Given the description of an element on the screen output the (x, y) to click on. 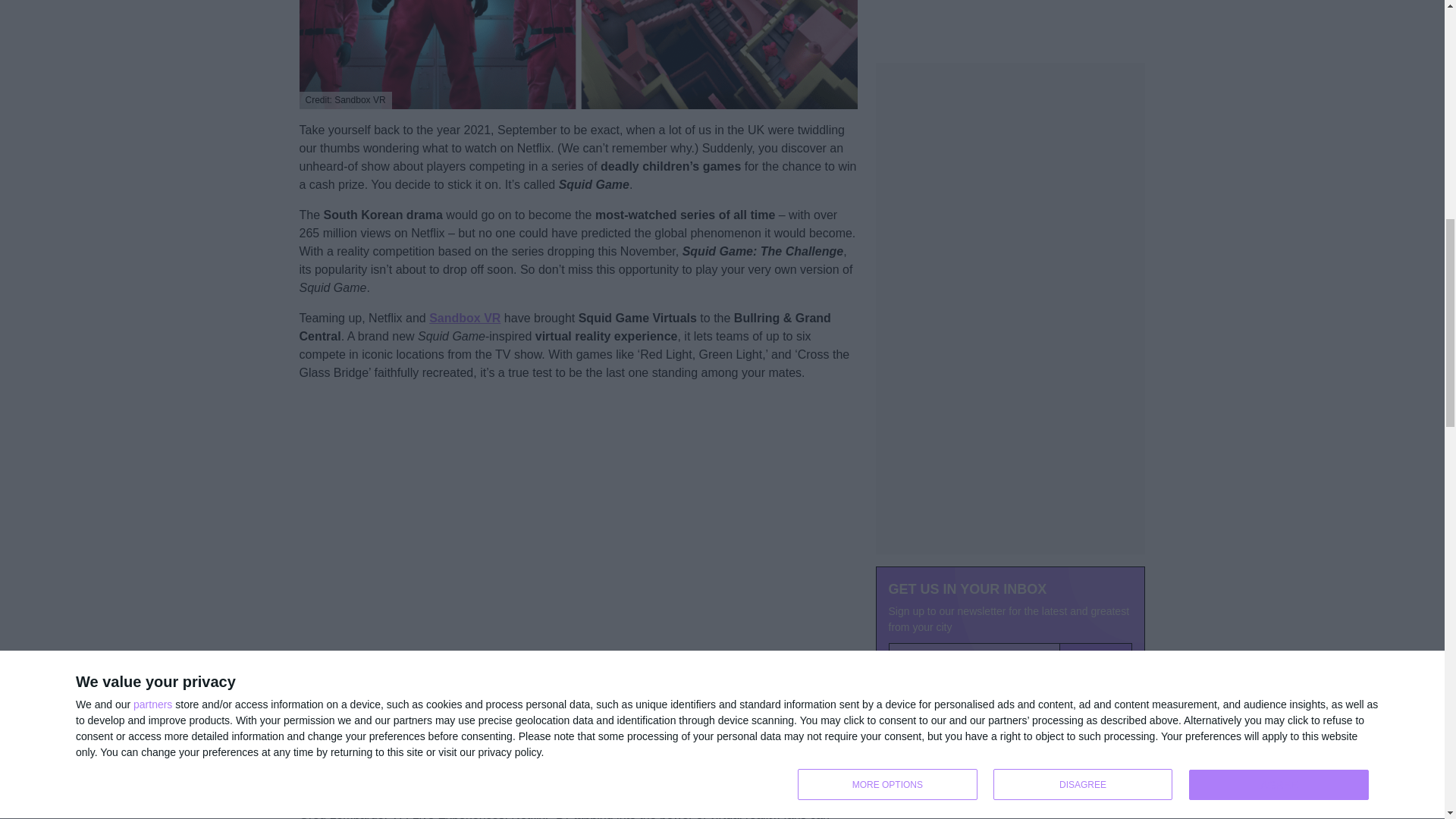
JULY 16, 2024 (904, 798)
Subscribe (1095, 411)
JULY 16, 2024 (904, 683)
Subscribe (1095, 411)
Sandbox VR (464, 318)
JULY 18, 2024 (904, 583)
1 (896, 441)
